Given the description of an element on the screen output the (x, y) to click on. 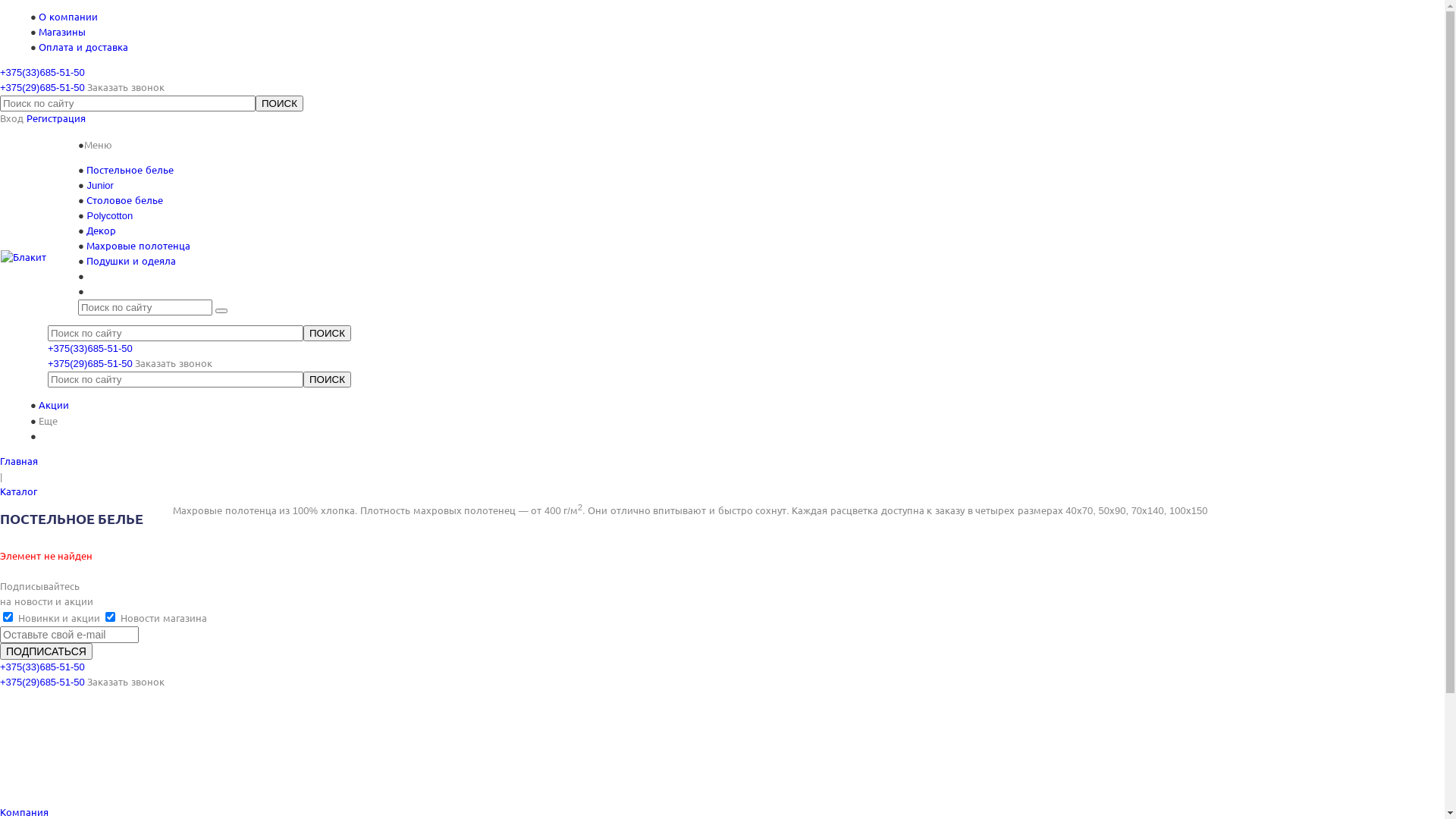
Polycotton Element type: text (109, 215)
+375(33)685-51-50 Element type: text (89, 348)
blakit-online@yandex.ru Element type: text (76, 742)
+375(29)685-51-50 Element type: text (42, 681)
+375(29)685-51-50 Element type: text (89, 363)
+375(29)685-51-50 Element type: text (42, 87)
Junior Element type: text (99, 185)
+375(33)685-51-50 Element type: text (42, 666)
+375(33)685-51-50 Element type: text (42, 72)
